Given the description of an element on the screen output the (x, y) to click on. 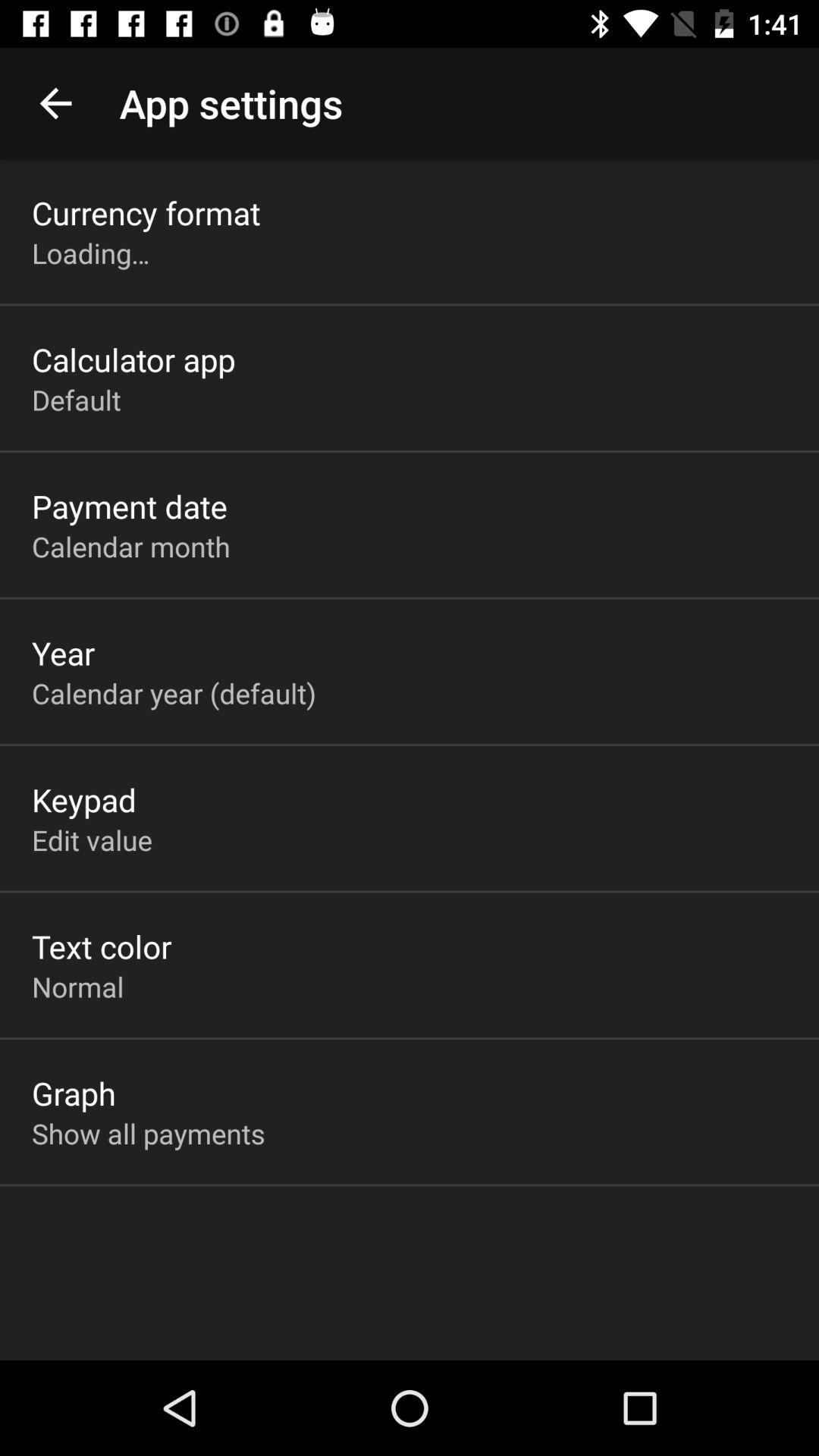
jump to currency format (145, 212)
